Given the description of an element on the screen output the (x, y) to click on. 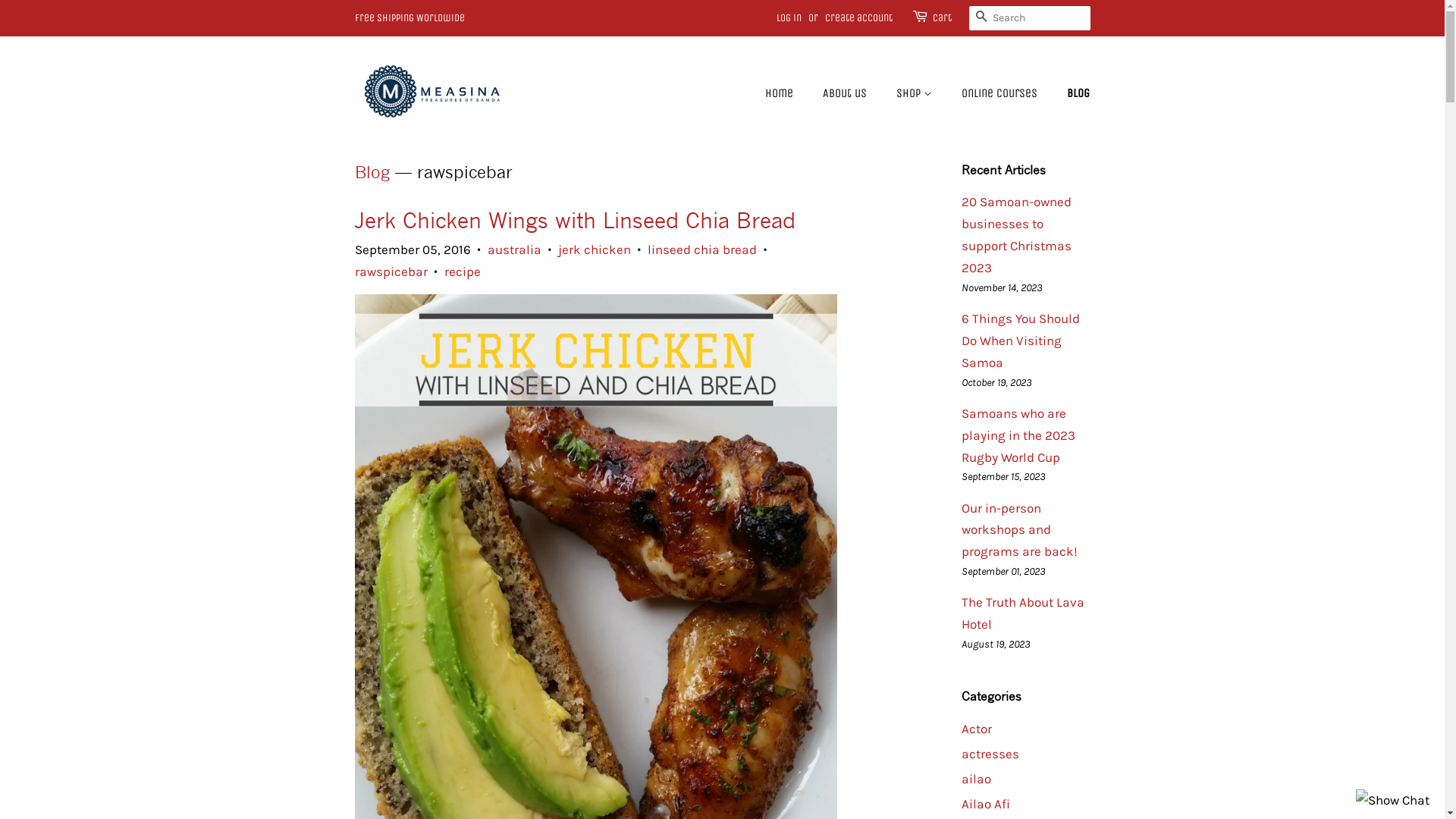
About us Element type: text (846, 92)
Ailao Afi Element type: text (985, 803)
Free Shipping Worldwide Element type: text (409, 17)
Search Element type: text (981, 15)
Samoans who are playing in the 2023 Rugby World Cup Element type: text (1018, 434)
Our in-person workshops and programs are back! Element type: text (1019, 529)
Online Courses Element type: text (1001, 92)
ailao Element type: text (976, 778)
recipe Element type: text (462, 271)
australia Element type: text (514, 249)
Home Element type: text (786, 92)
Create account Element type: text (858, 17)
actresses Element type: text (990, 753)
Shop Element type: text (915, 92)
The Truth About Lava Hotel Element type: text (1022, 612)
jerk chicken Element type: text (594, 249)
Blog Element type: text (1072, 92)
Actor Element type: text (976, 728)
rawspicebar Element type: text (390, 271)
linseed chia bread Element type: text (701, 249)
Cart Element type: text (941, 18)
Blog Element type: text (371, 172)
Log in Element type: text (788, 17)
6 Things You Should Do When Visiting Samoa Element type: text (1020, 340)
20 Samoan-owned businesses to support Christmas 2023 Element type: text (1016, 234)
Jerk Chicken Wings with Linseed Chia Bread Element type: text (574, 220)
